Given the description of an element on the screen output the (x, y) to click on. 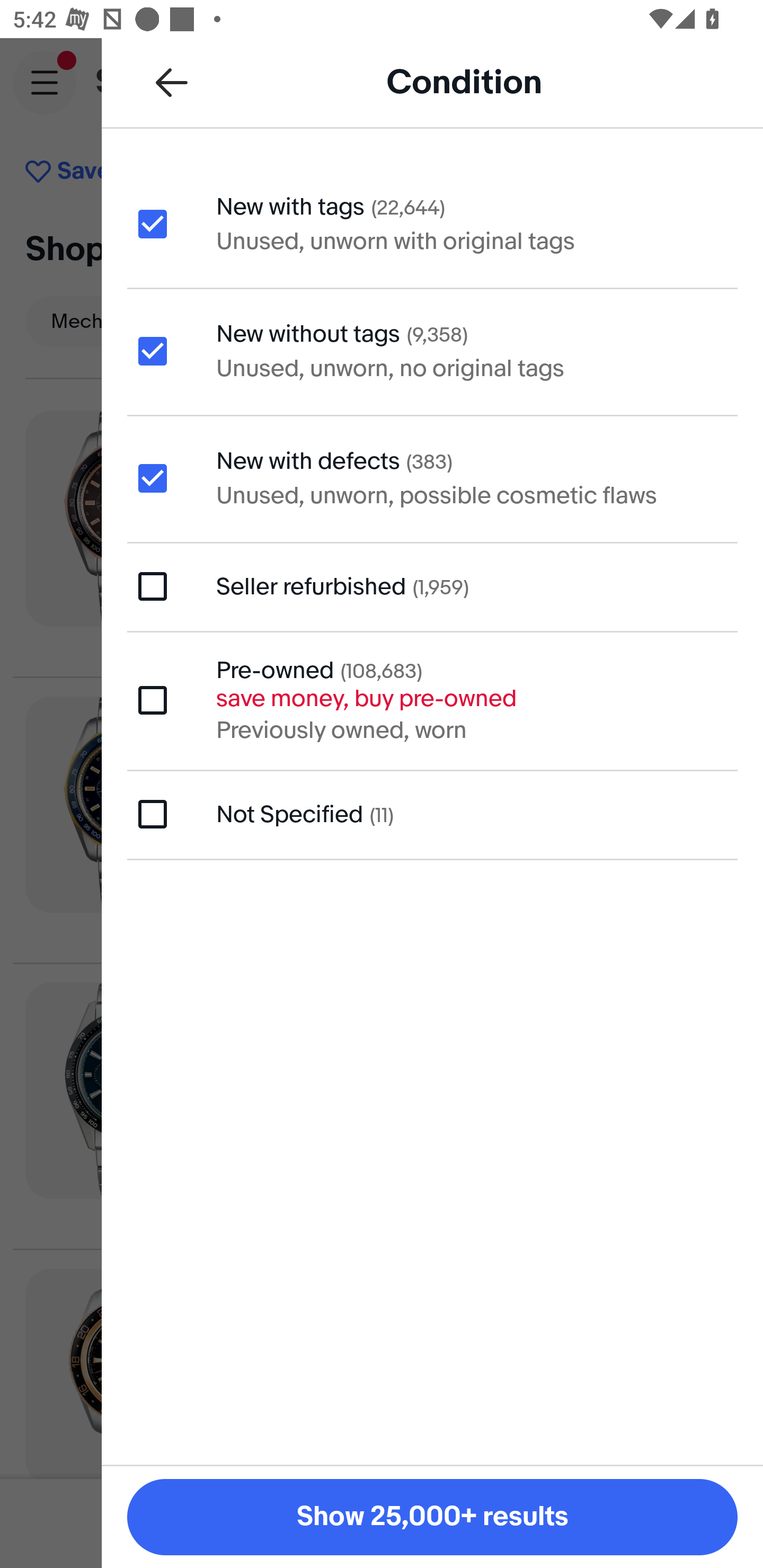
Back to all refinements (171, 81)
Seller refurbished (1,959) (432, 586)
Not Specified (11) (432, 814)
Show 25,000+ results (432, 1516)
